Given the description of an element on the screen output the (x, y) to click on. 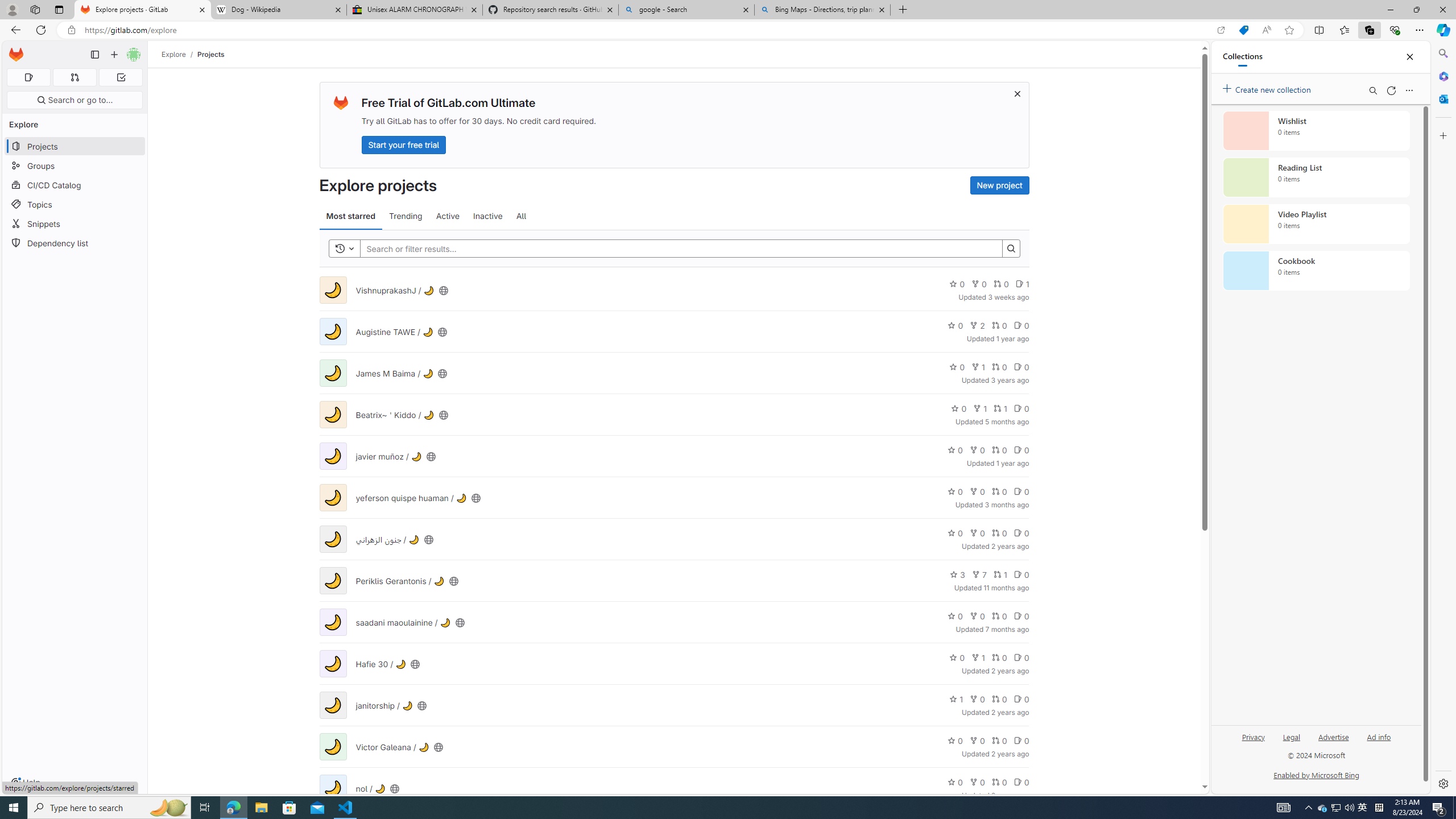
New project (999, 185)
Homepage (16, 54)
Privacy (1252, 741)
Toggle history (344, 248)
To-Do list 0 (120, 76)
1 (955, 698)
Privacy (1253, 736)
Groups (74, 165)
